Given the description of an element on the screen output the (x, y) to click on. 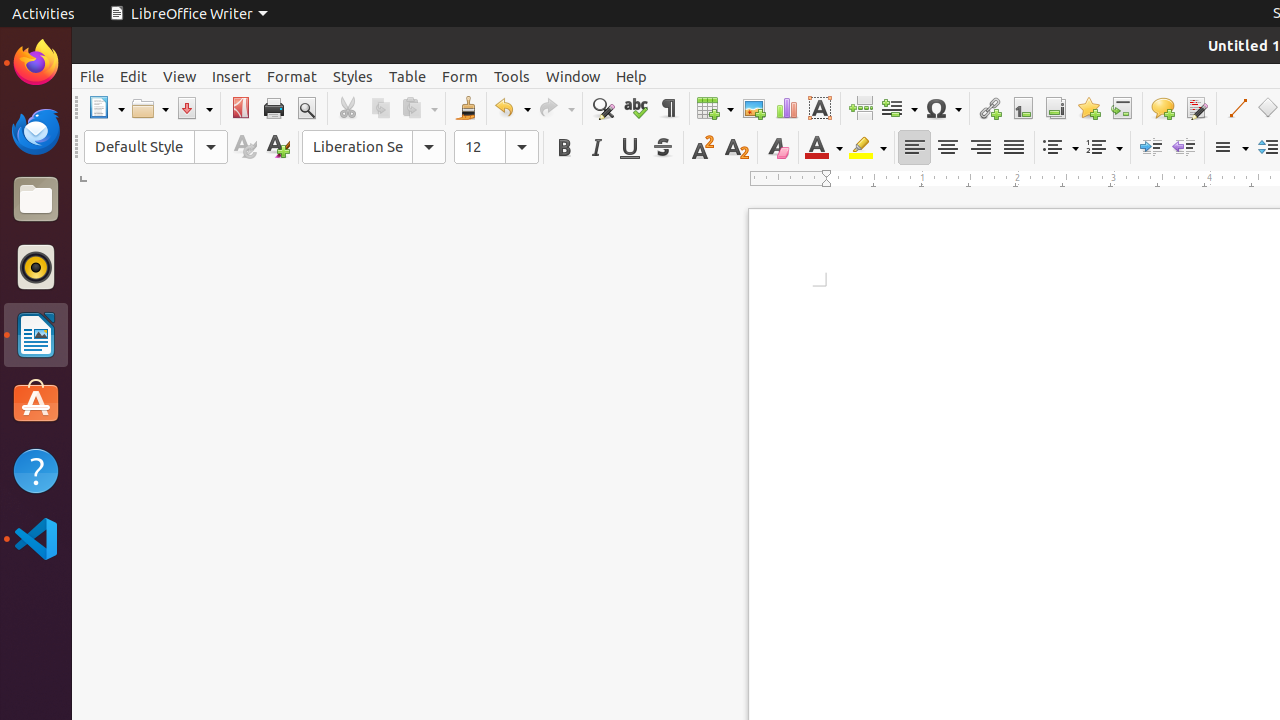
Edit Element type: menu (133, 76)
Print Preview Element type: toggle-button (306, 108)
Paste Element type: push-button (419, 108)
Styles Element type: menu (353, 76)
Subscript Element type: toggle-button (736, 147)
